Given the description of an element on the screen output the (x, y) to click on. 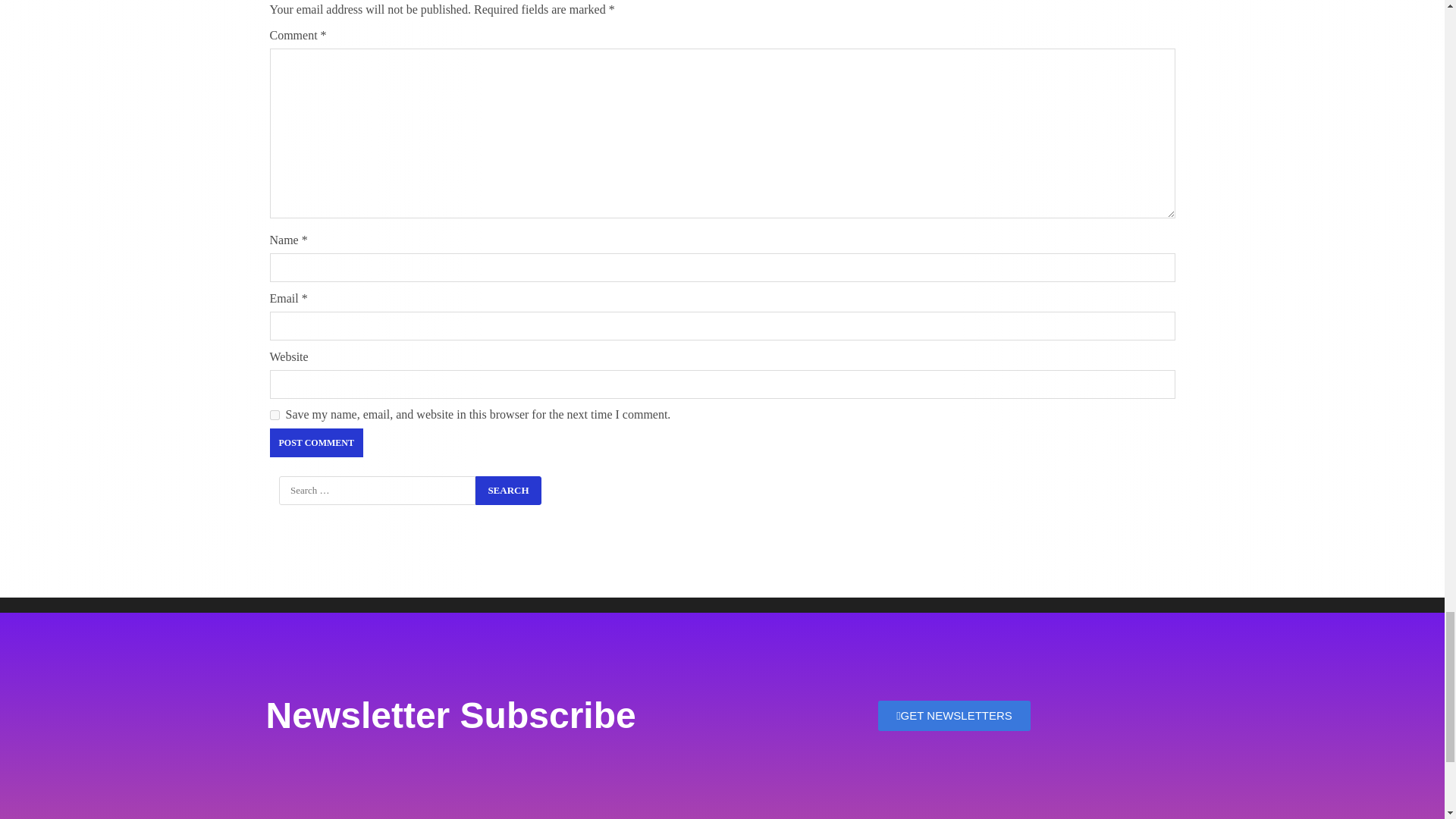
Search (508, 490)
Post Comment (315, 442)
GET NEWSLETTERS (953, 716)
Search (508, 490)
Post Comment (315, 442)
Search (508, 490)
yes (274, 415)
